Given the description of an element on the screen output the (x, y) to click on. 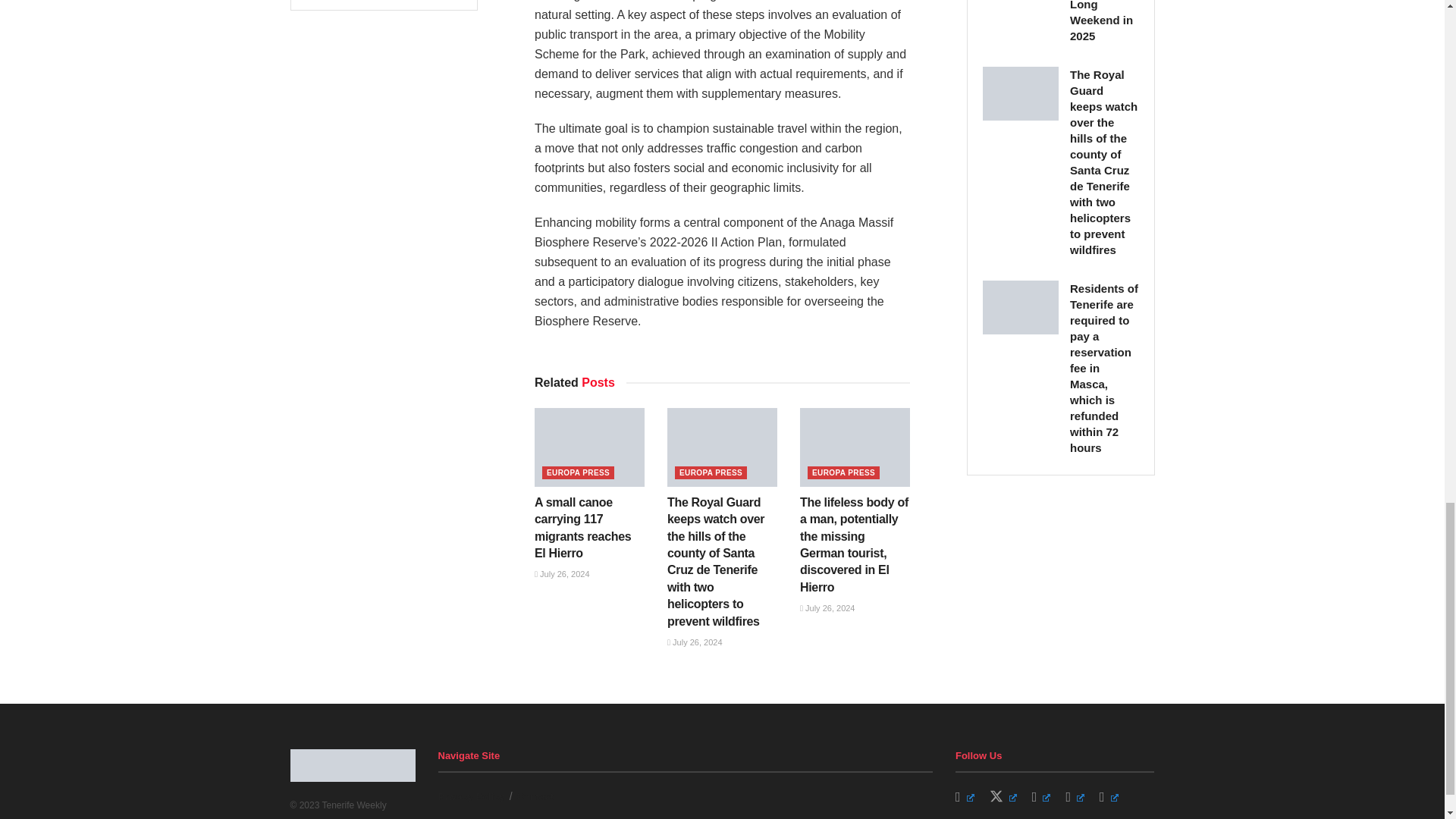
A small canoe carrying 117 migrants reaches El Hierro (582, 527)
EUROPA PRESS (577, 472)
